Given the description of an element on the screen output the (x, y) to click on. 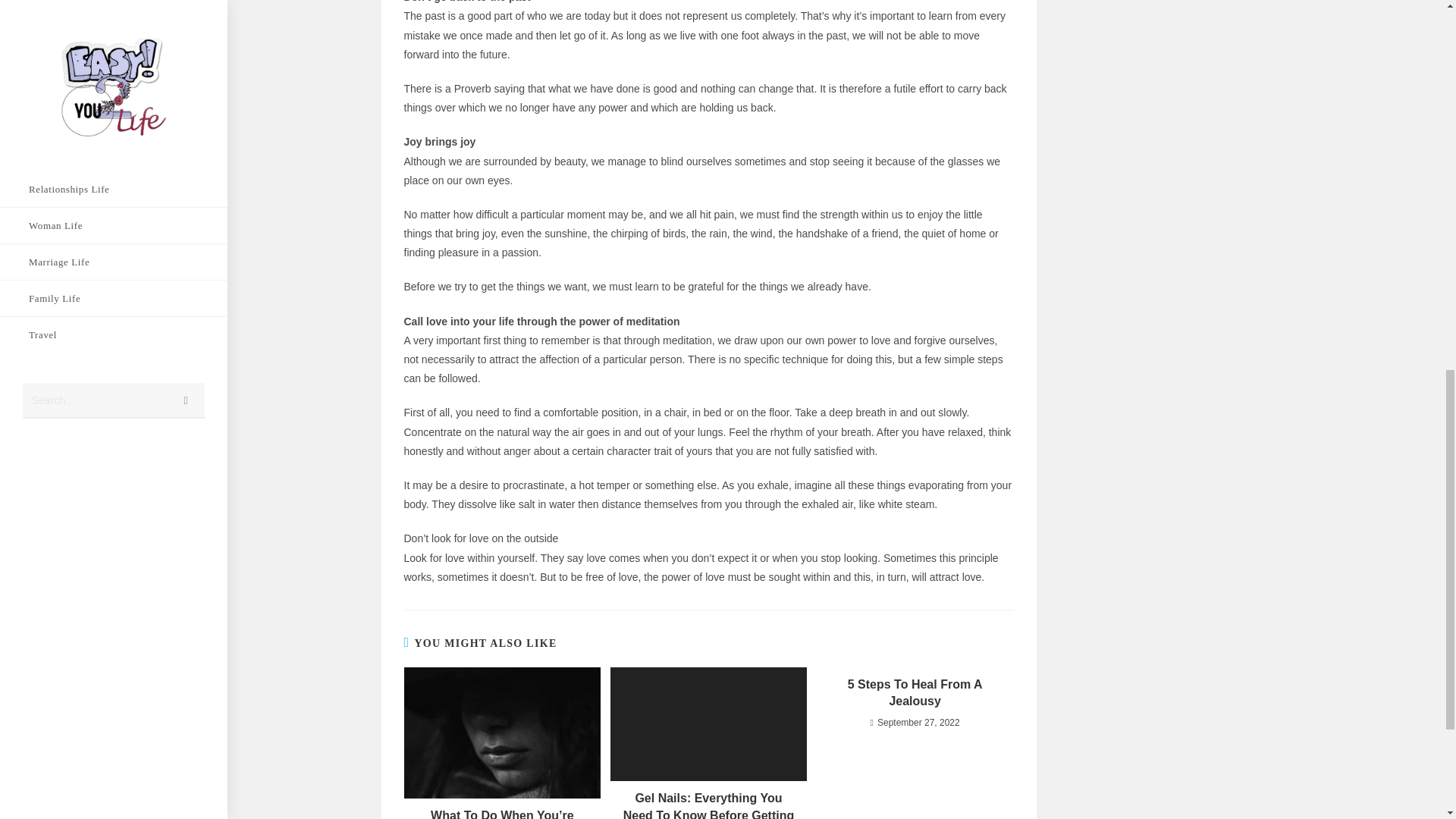
5 Steps To Heal From A Jealousy (914, 693)
